Given the description of an element on the screen output the (x, y) to click on. 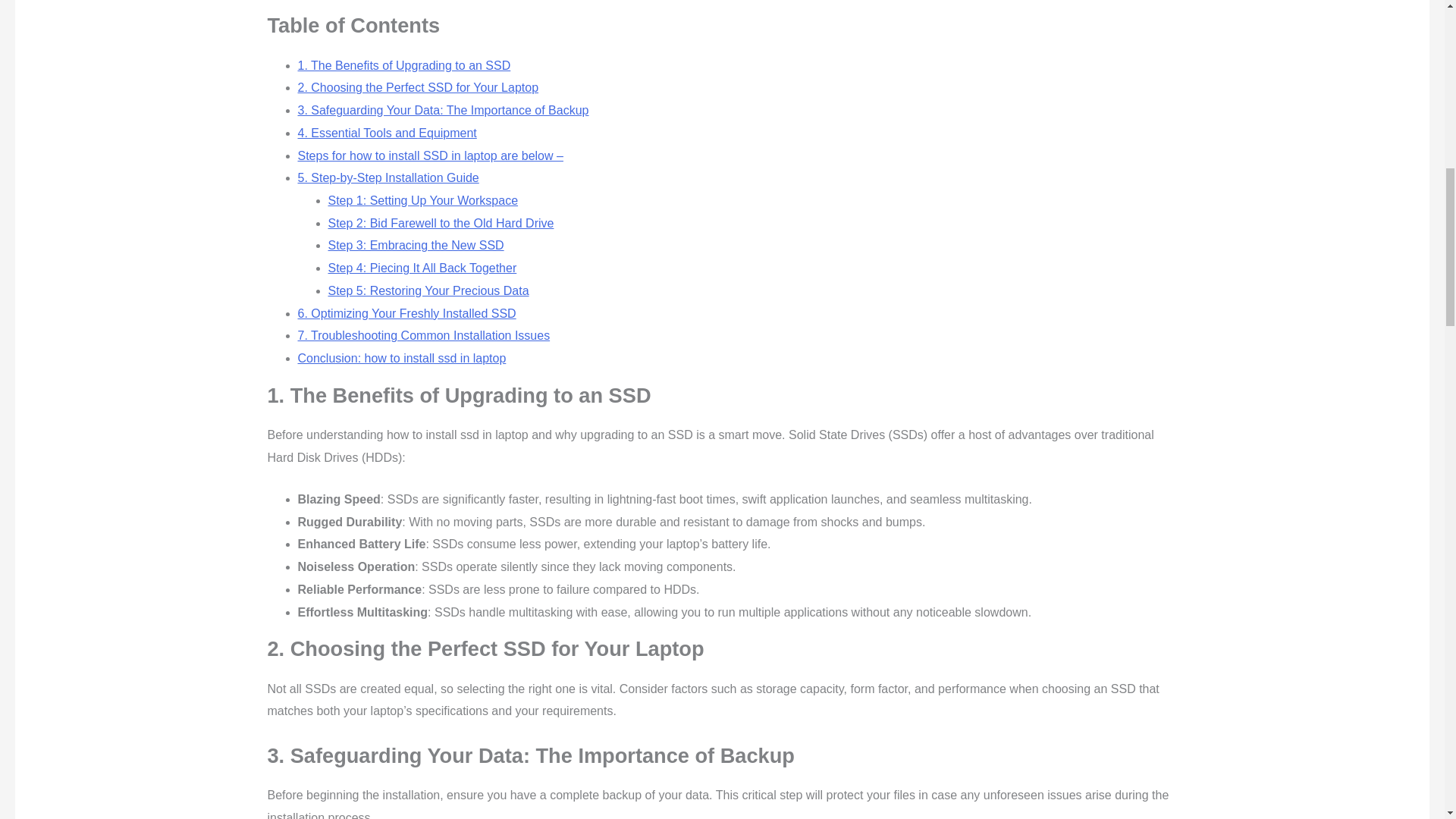
Conclusion: how to install ssd in laptop (401, 358)
5. Step-by-Step Installation Guide (388, 177)
Step 4: Piecing It All Back Together (421, 267)
2. Choosing the Perfect SSD for Your Laptop (417, 87)
3. Safeguarding Your Data: The Importance of Backup (442, 110)
1. The Benefits of Upgrading to an SSD (404, 65)
Step 2: Bid Farewell to the Old Hard Drive (440, 223)
Step 1: Setting Up Your Workspace (422, 200)
7. Troubleshooting Common Installation Issues (423, 335)
Step 5: Restoring Your Precious Data (427, 290)
